Given the description of an element on the screen output the (x, y) to click on. 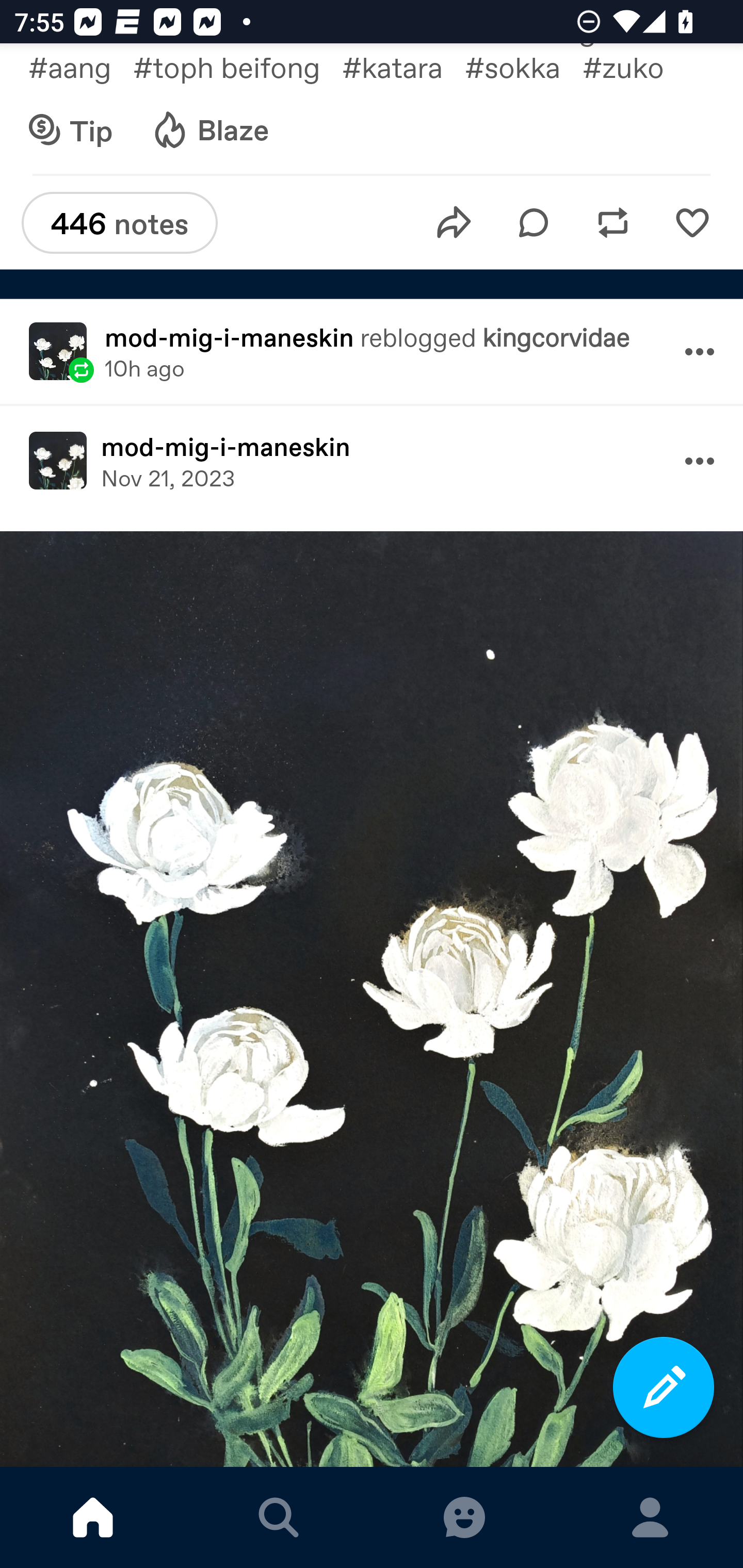
#aang (80, 66)
#toph beifong (236, 66)
#katara (403, 66)
#sokka (523, 66)
#zuko (637, 66)
Tip (71, 130)
Blaze Blaze Blaze (209, 130)
Share post to message (454, 222)
Reply (533, 222)
Reblog (612, 222)
Like (691, 222)
446 notes (119, 222)
Compose a new post (663, 1387)
DASHBOARD (92, 1517)
EXPLORE (278, 1517)
MESSAGES (464, 1517)
ACCOUNT (650, 1517)
